Given the description of an element on the screen output the (x, y) to click on. 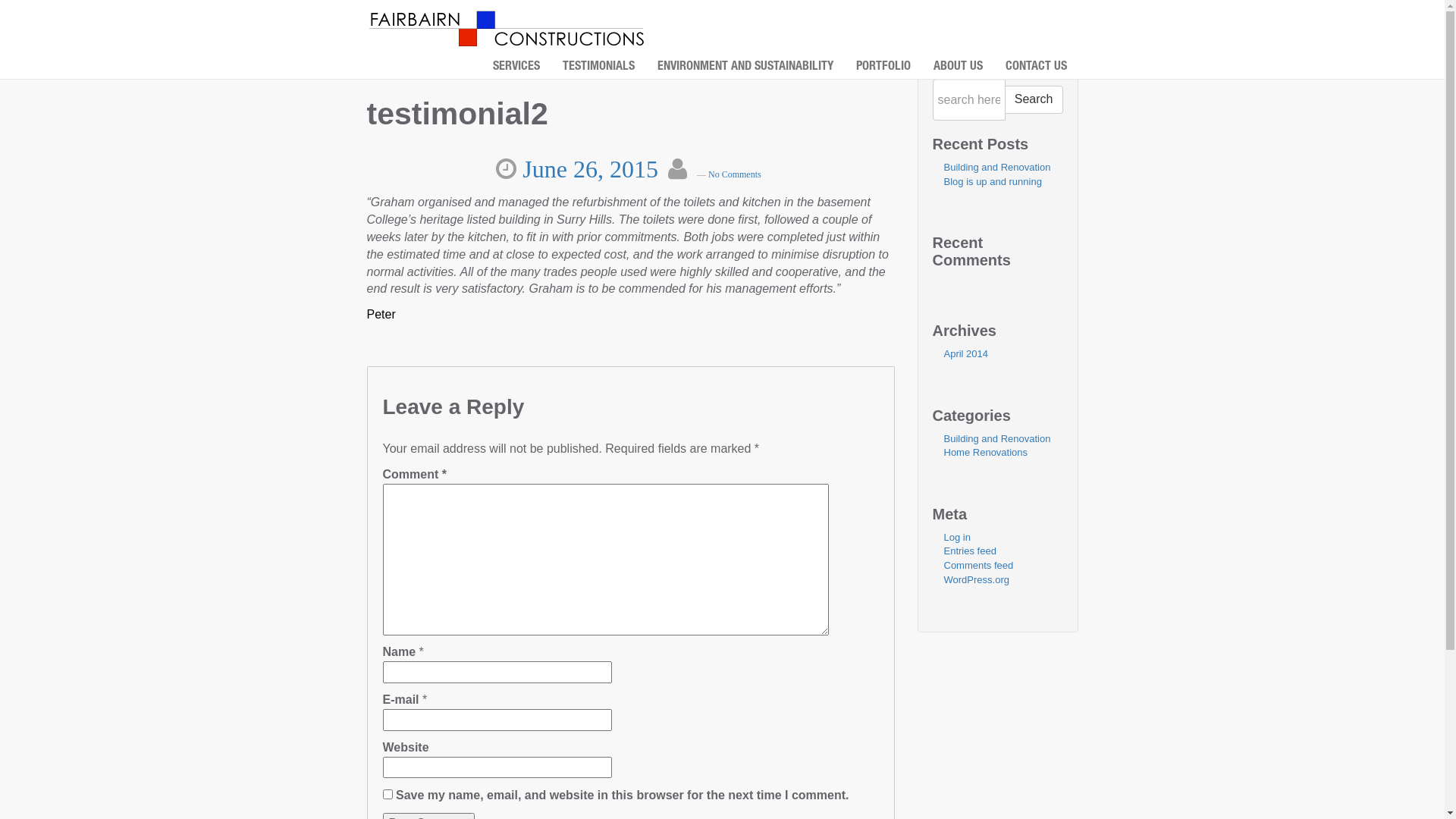
Comments feed Element type: text (978, 565)
June 26, 2015 Element type: text (592, 168)
TESTIMONIALS Element type: text (597, 67)
Log in Element type: text (956, 536)
PORTFOLIO Element type: text (883, 67)
No Comments Element type: text (736, 174)
Building and Renovation Blog is up and running Element type: text (996, 174)
WordPress.org Element type: text (975, 578)
Entries feed Element type: text (969, 550)
ENVIRONMENT AND SUSTAINABILITY Element type: text (745, 67)
Search Element type: text (1033, 99)
ABOUT US Element type: text (958, 67)
Building and Renovation Element type: text (996, 438)
View all posts by  Element type: hover (694, 168)
CONTACT US Element type: text (1035, 67)
April 2014 Element type: text (965, 353)
Home Renovations Element type: text (985, 452)
Home Element type: hover (506, 27)
SERVICES Element type: text (515, 67)
